Given the description of an element on the screen output the (x, y) to click on. 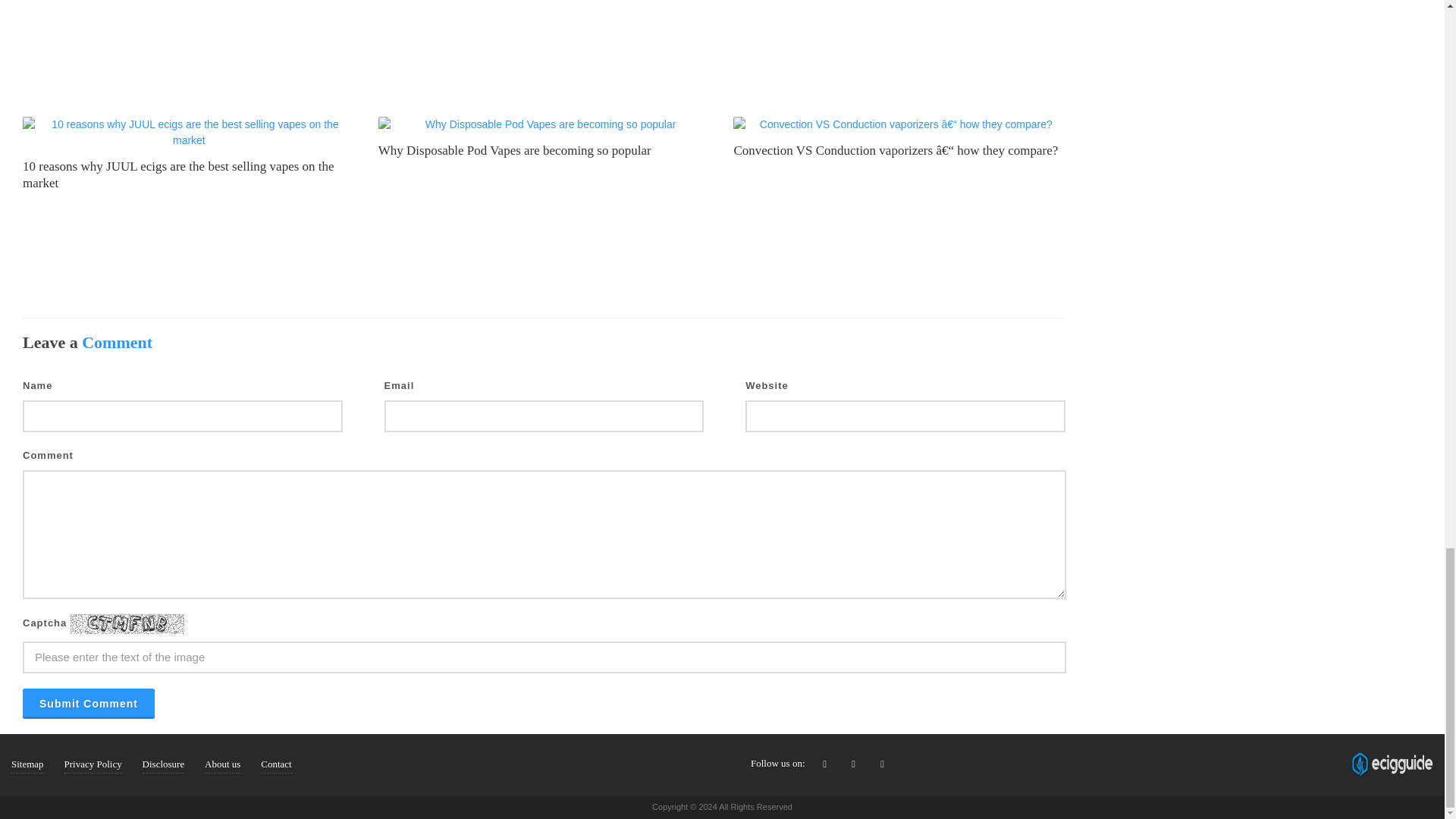
Instagram (882, 764)
Submit Comment (88, 703)
Why Disposable Pod Vapes are becoming so popular (514, 150)
